Given the description of an element on the screen output the (x, y) to click on. 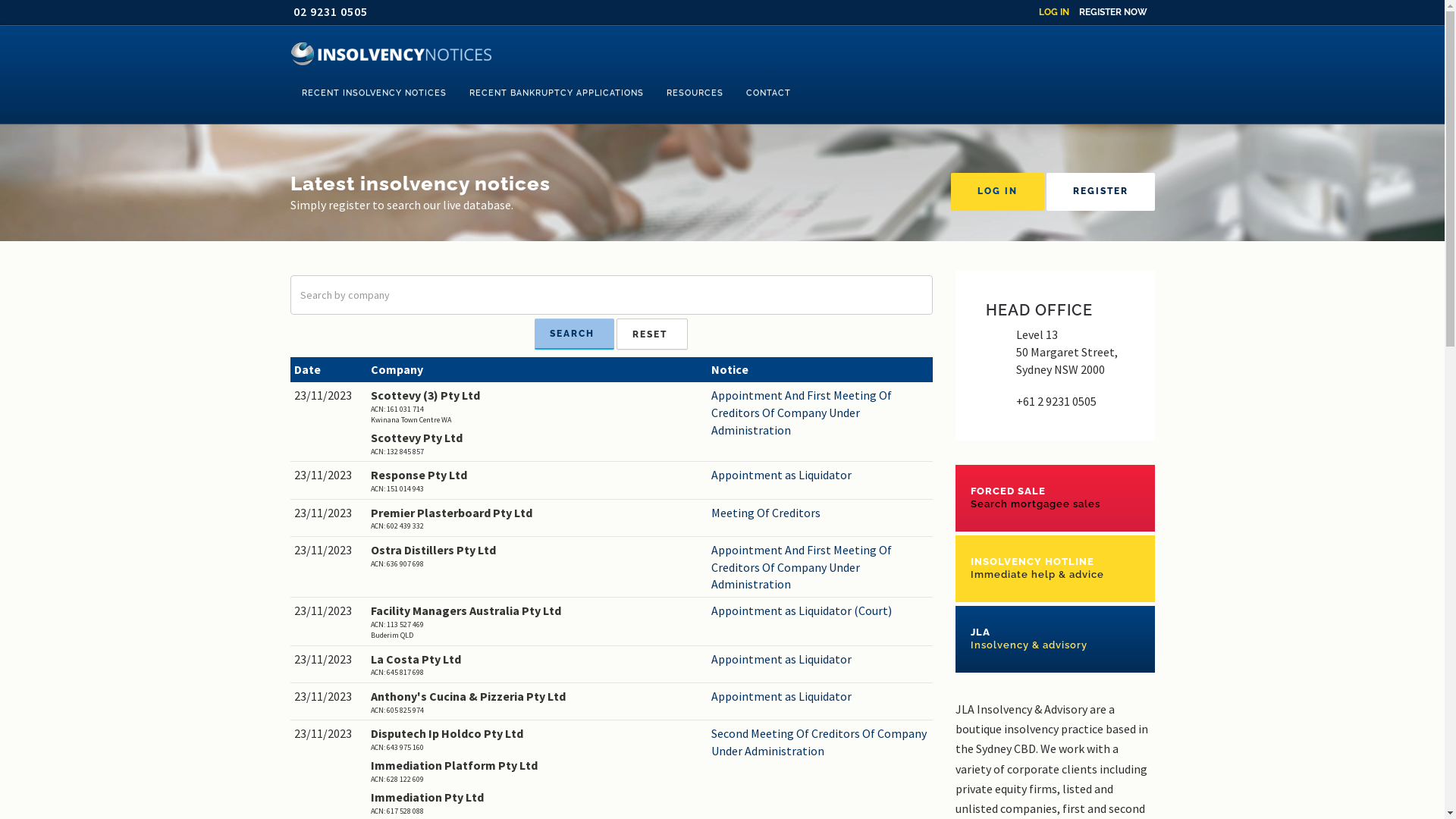
23/11/2023 Element type: text (329, 610)
23/11/2023 Element type: text (329, 733)
23/11/2023 Element type: text (329, 696)
Second Meeting Of Creditors Of Company Under Administration Element type: text (819, 741)
LOG IN Element type: text (1053, 11)
Appointment as Liquidator (Court) Element type: text (819, 610)
Appointment as Liquidator Element type: text (819, 474)
Appointment as Liquidator Element type: text (819, 696)
RECENT INSOLVENCY NOTICES Element type: text (373, 92)
Premier Plasterboard Pty Ltd
ACN: 602 439 332 Element type: text (536, 518)
23/11/2023 Element type: text (329, 395)
FORCED SALE  
Search mortgagee sales Element type: text (1054, 497)
Response Pty Ltd
ACN: 151 014 943 Element type: text (536, 480)
REGISTER NOW Element type: text (1112, 11)
CONTACT Element type: text (767, 92)
23/11/2023 Element type: text (329, 512)
23/11/2023 Element type: text (329, 659)
LOG IN Element type: text (997, 191)
Meeting Of Creditors Element type: text (819, 512)
JLA  
Insolvency & advisory Element type: text (1054, 638)
RESOURCES Element type: text (694, 92)
Search Element type: text (574, 333)
23/11/2023 Element type: text (329, 474)
REGISTER Element type: text (1100, 191)
Anthony's Cucina & Pizzeria Pty Ltd
ACN: 605 825 974 Element type: text (536, 701)
23/11/2023 Element type: text (329, 549)
RECENT BANKRUPTCY APPLICATIONS Element type: text (556, 92)
Appointment as Liquidator Element type: text (819, 659)
INSOLVENCY HOTLINE  
Immediate help & advice Element type: text (1054, 568)
Ostra Distillers Pty Ltd
ACN: 636 907 698 Element type: text (536, 555)
La Costa Pty Ltd
ACN: 645 817 698 Element type: text (536, 664)
